Given the description of an element on the screen output the (x, y) to click on. 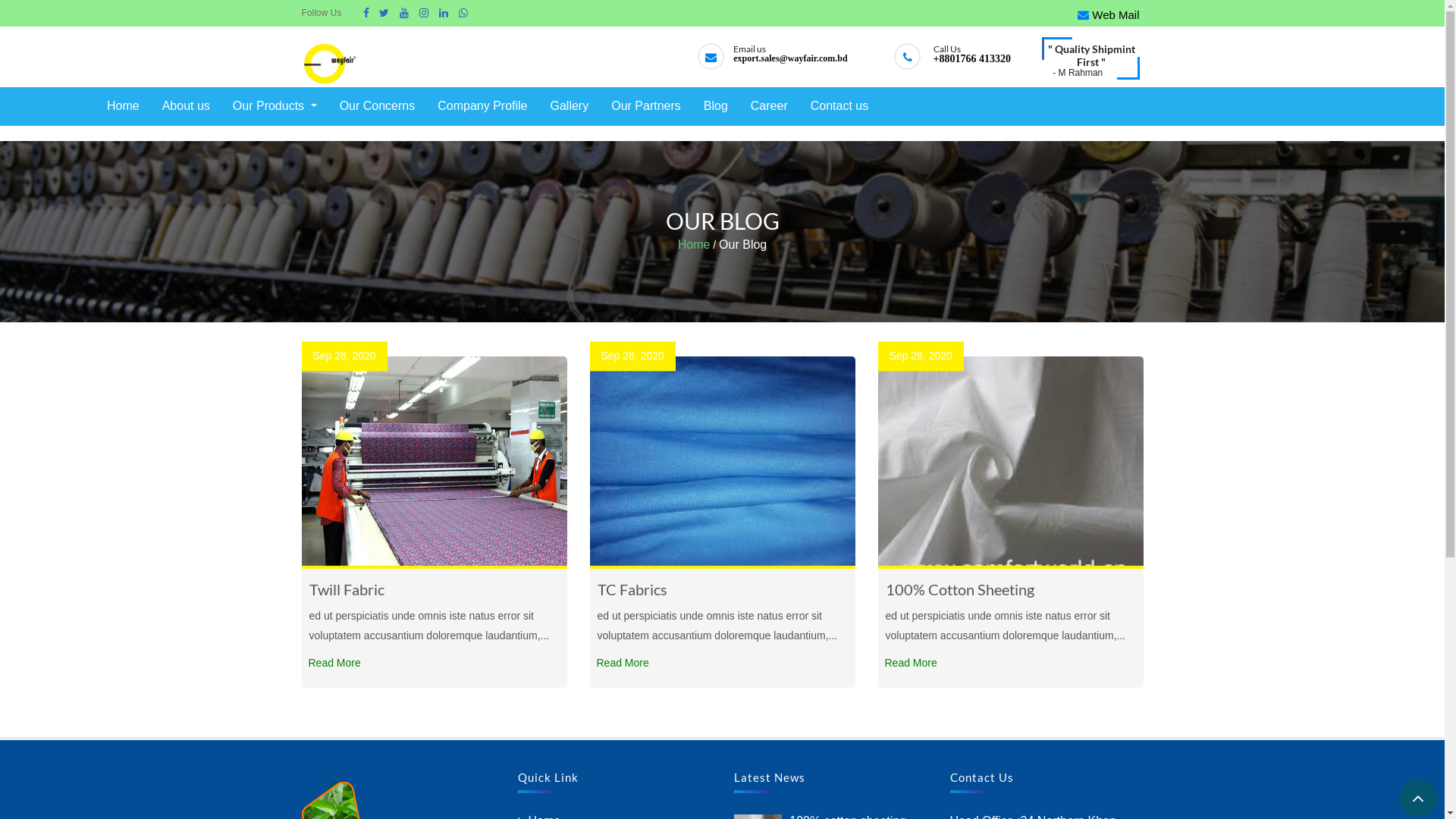
Blog Element type: text (715, 106)
Our Products Element type: text (274, 106)
Read More Element type: text (910, 662)
Our Blog Element type: text (742, 245)
Read More Element type: text (622, 662)
Gallery Element type: text (569, 106)
Contact us Element type: text (839, 106)
Web Mail Element type: text (1108, 14)
Read More Element type: text (334, 662)
Our Partners Element type: text (645, 106)
Our Concerns Element type: text (377, 106)
About us Element type: text (185, 106)
Company Profile Element type: text (481, 106)
Home Element type: text (693, 245)
Home Element type: text (123, 106)
Career Element type: text (768, 106)
